Given the description of an element on the screen output the (x, y) to click on. 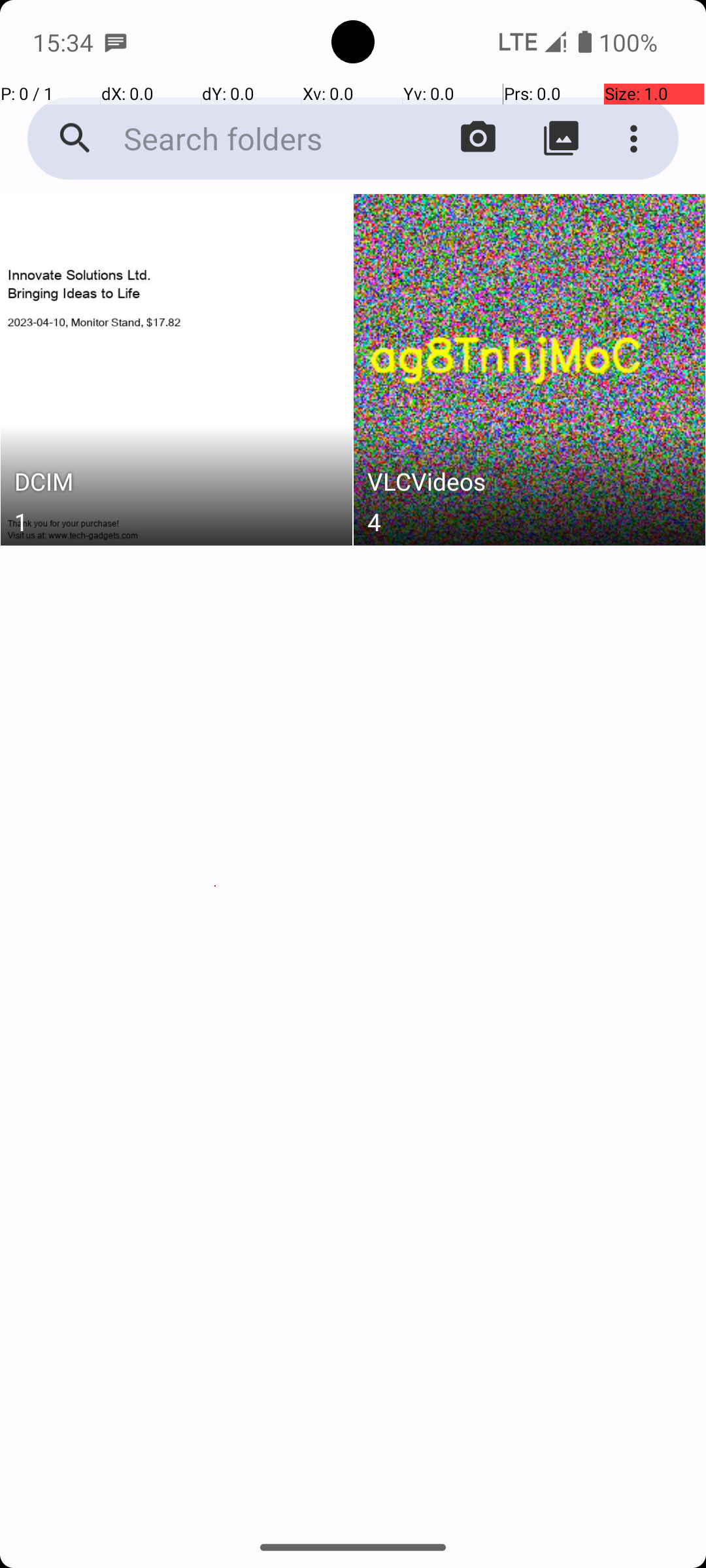
Show all folders content Element type: android.widget.Button (560, 138)
VLCVideos Element type: android.widget.TextView (529, 484)
